Given the description of an element on the screen output the (x, y) to click on. 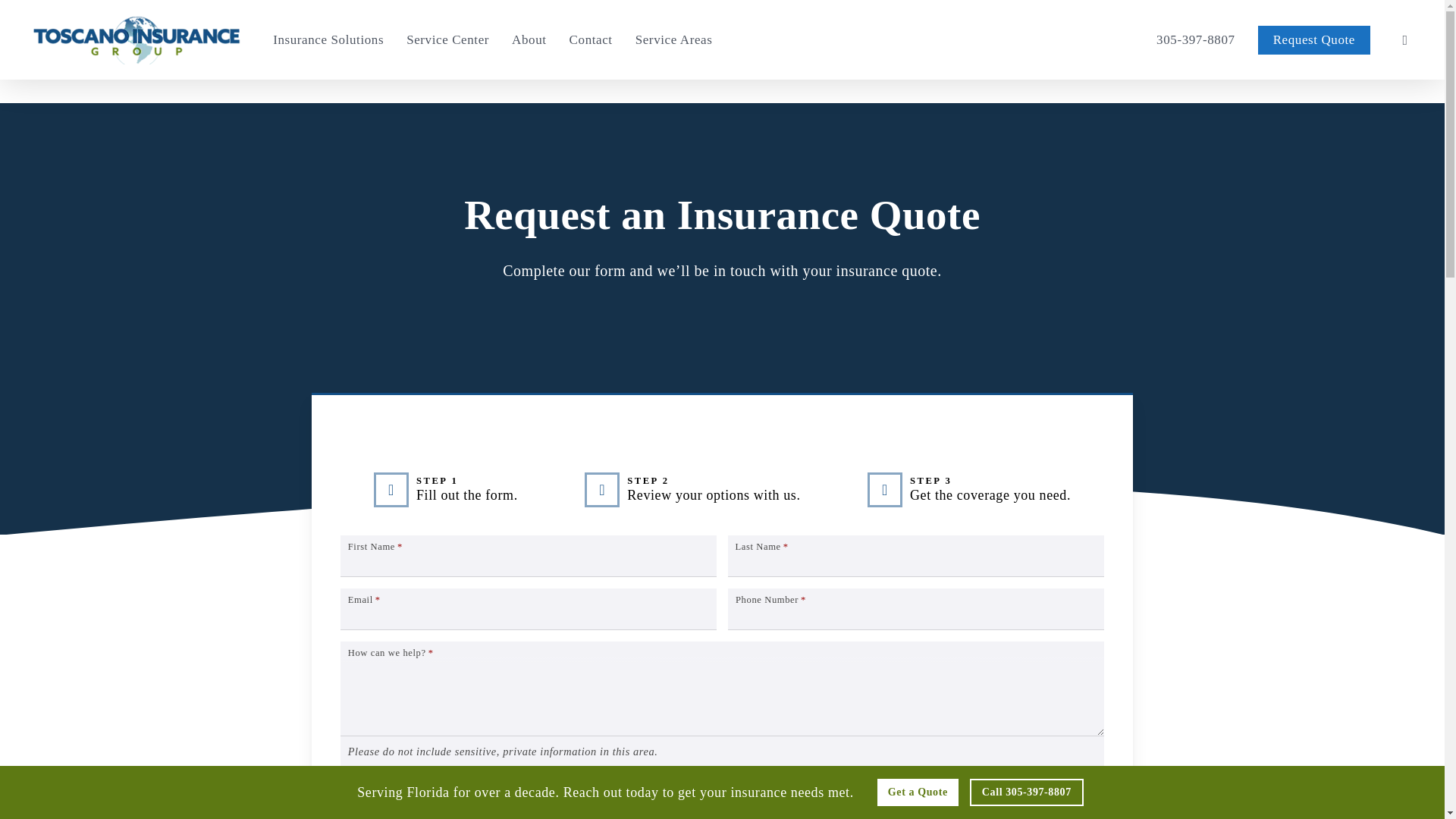
Insurance Solutions (328, 38)
Service Center (447, 38)
About (529, 38)
